Given the description of an element on the screen output the (x, y) to click on. 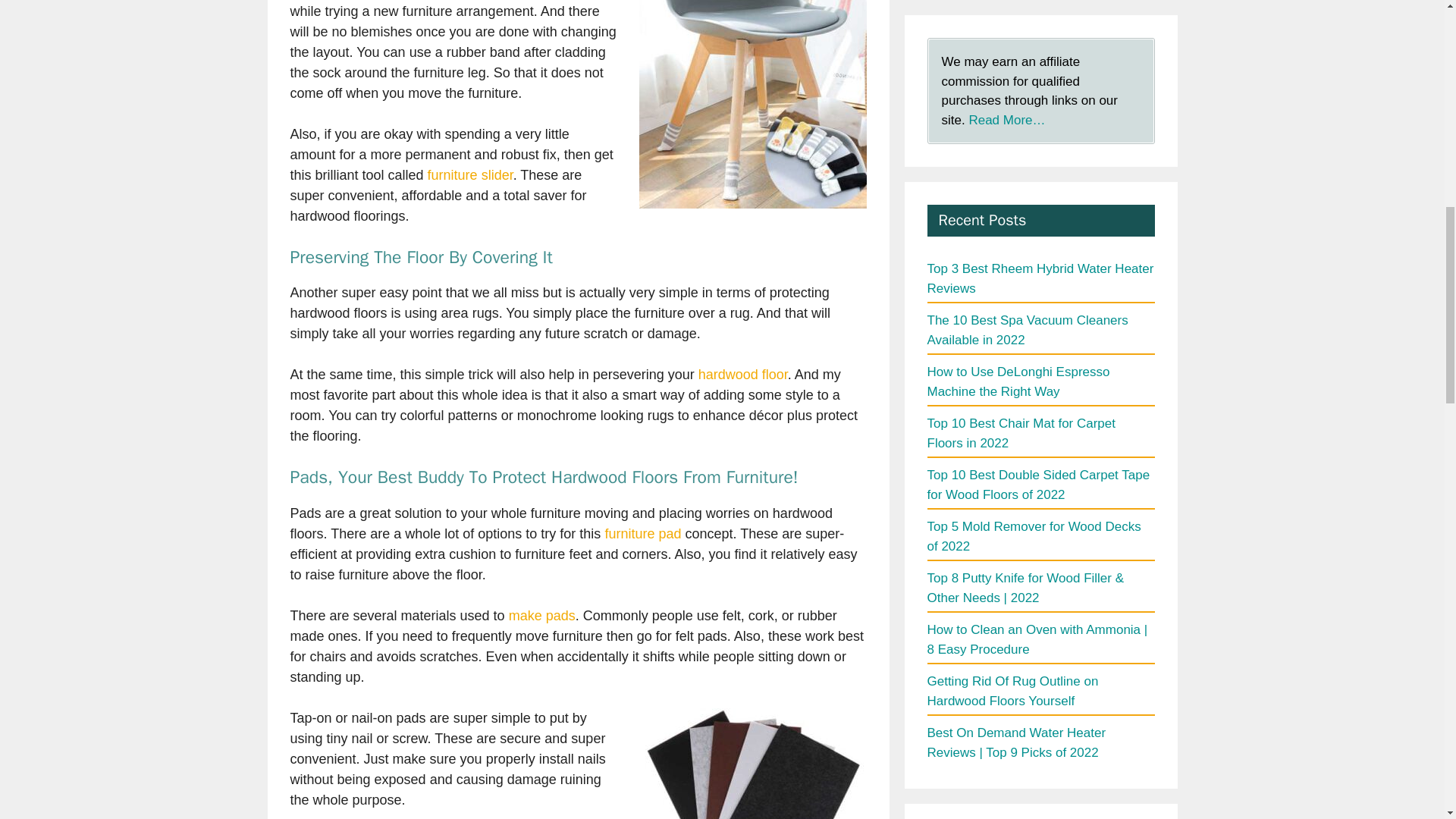
make pads (541, 615)
hardwood floor (742, 374)
Scroll back to top (1406, 720)
furniture pad (642, 533)
furniture slider (470, 174)
